Given the description of an element on the screen output the (x, y) to click on. 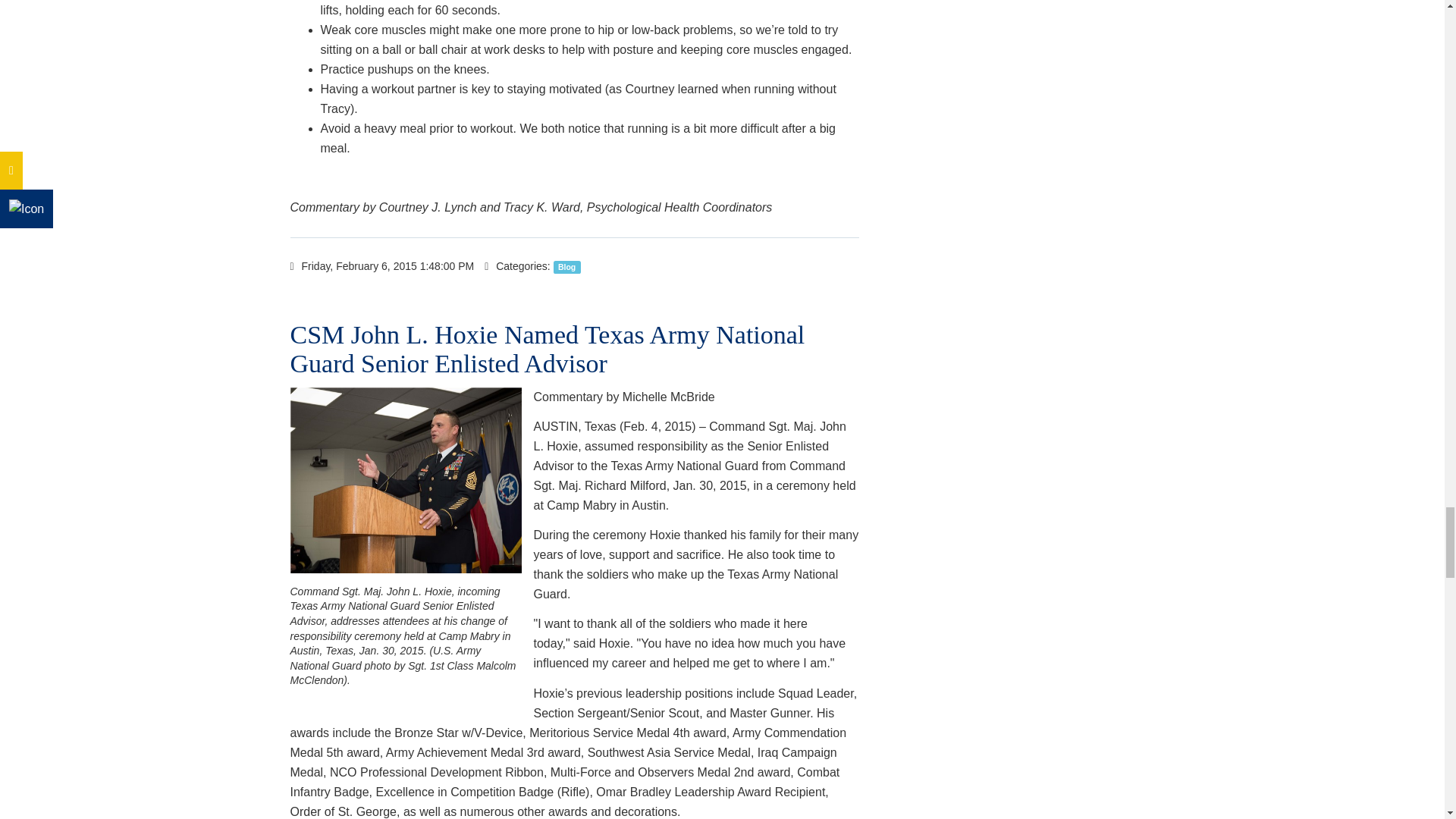
Blog (566, 267)
